Given the description of an element on the screen output the (x, y) to click on. 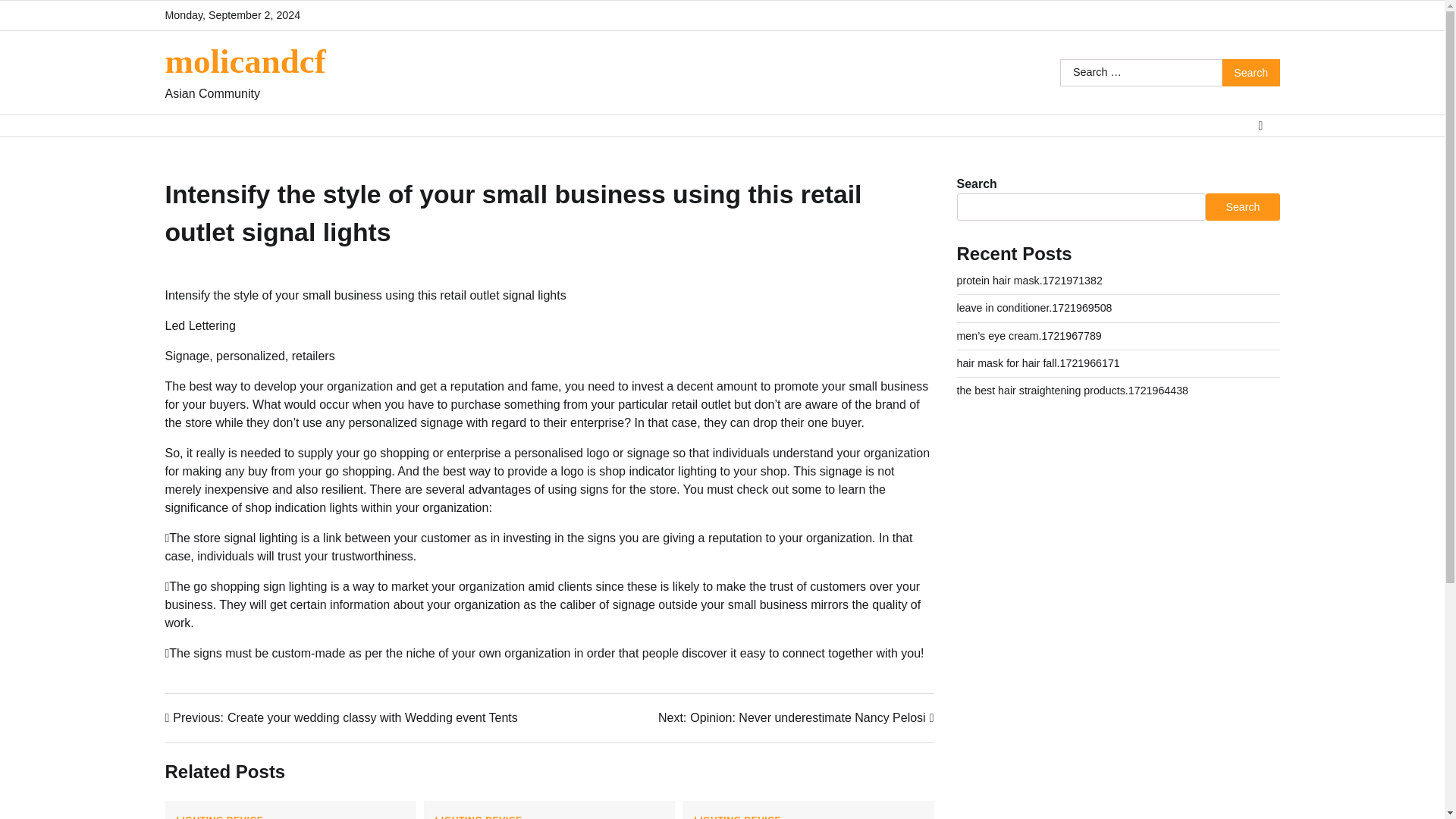
hair mask for hair fall.1721966171 (1037, 363)
LIGHTING DEVICE (478, 817)
leave in conditioner.1721969508 (1034, 307)
Search (1251, 72)
the best hair straightening products.1721964438 (1072, 390)
protein hair mask.1721971382 (796, 718)
molicandcf (1029, 280)
Search (245, 61)
